Given the description of an element on the screen output the (x, y) to click on. 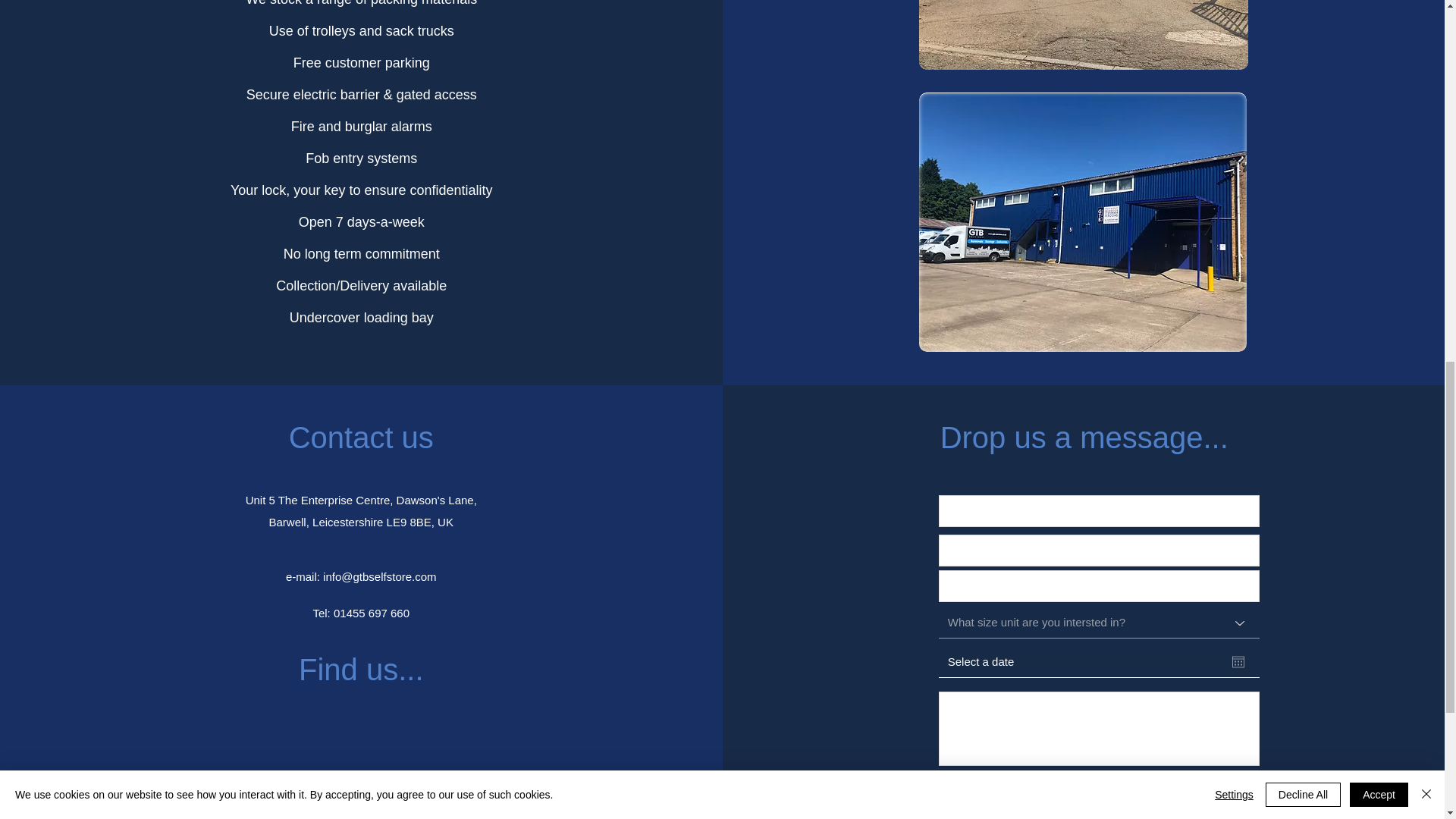
Google Maps (360, 762)
